Given the description of an element on the screen output the (x, y) to click on. 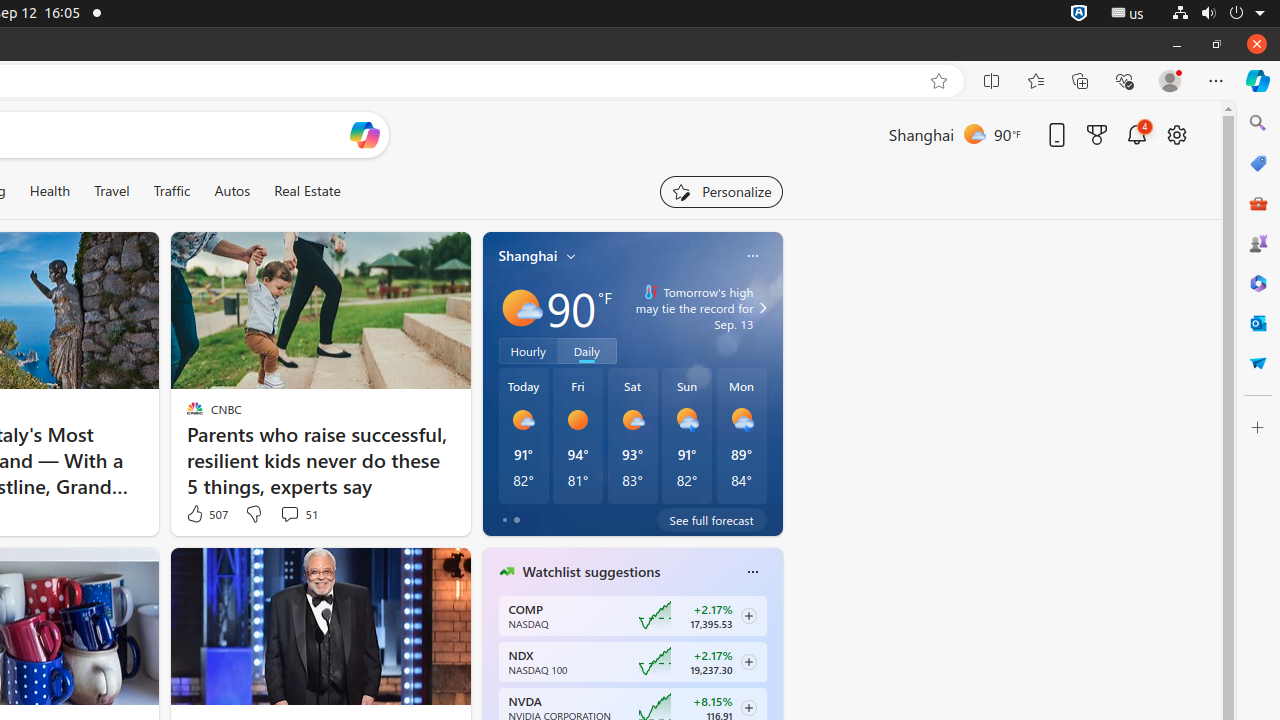
Daily Element type: list-item (587, 351)
NDX NASDAQ 100 ‎+2.17%‎ 19,237.30 Element type: link (632, 662)
Watchlist suggestions Element type: link (591, 572)
View comments 51 Comment Element type: link (298, 514)
:1.72/StatusNotifierItem Element type: menu (1079, 13)
